Given the description of an element on the screen output the (x, y) to click on. 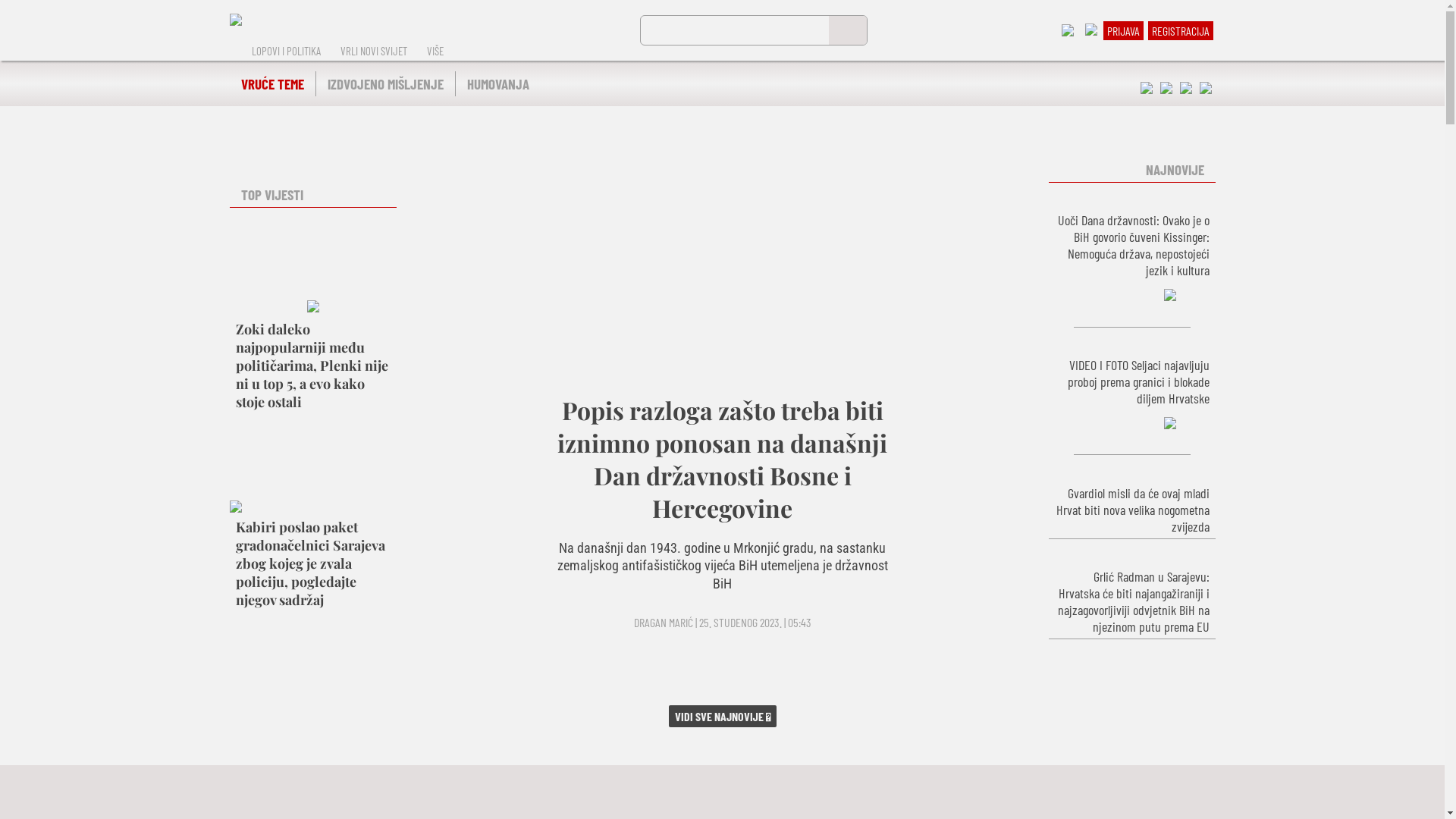
PRIJAVA Element type: text (1123, 30)
LOPOVI I POLITIKA Element type: text (285, 50)
HUMOVANJA Element type: text (497, 83)
REGISTRACIJA Element type: text (1179, 30)
VRLI NOVI SVIJET Element type: text (373, 50)
